Given the description of an element on the screen output the (x, y) to click on. 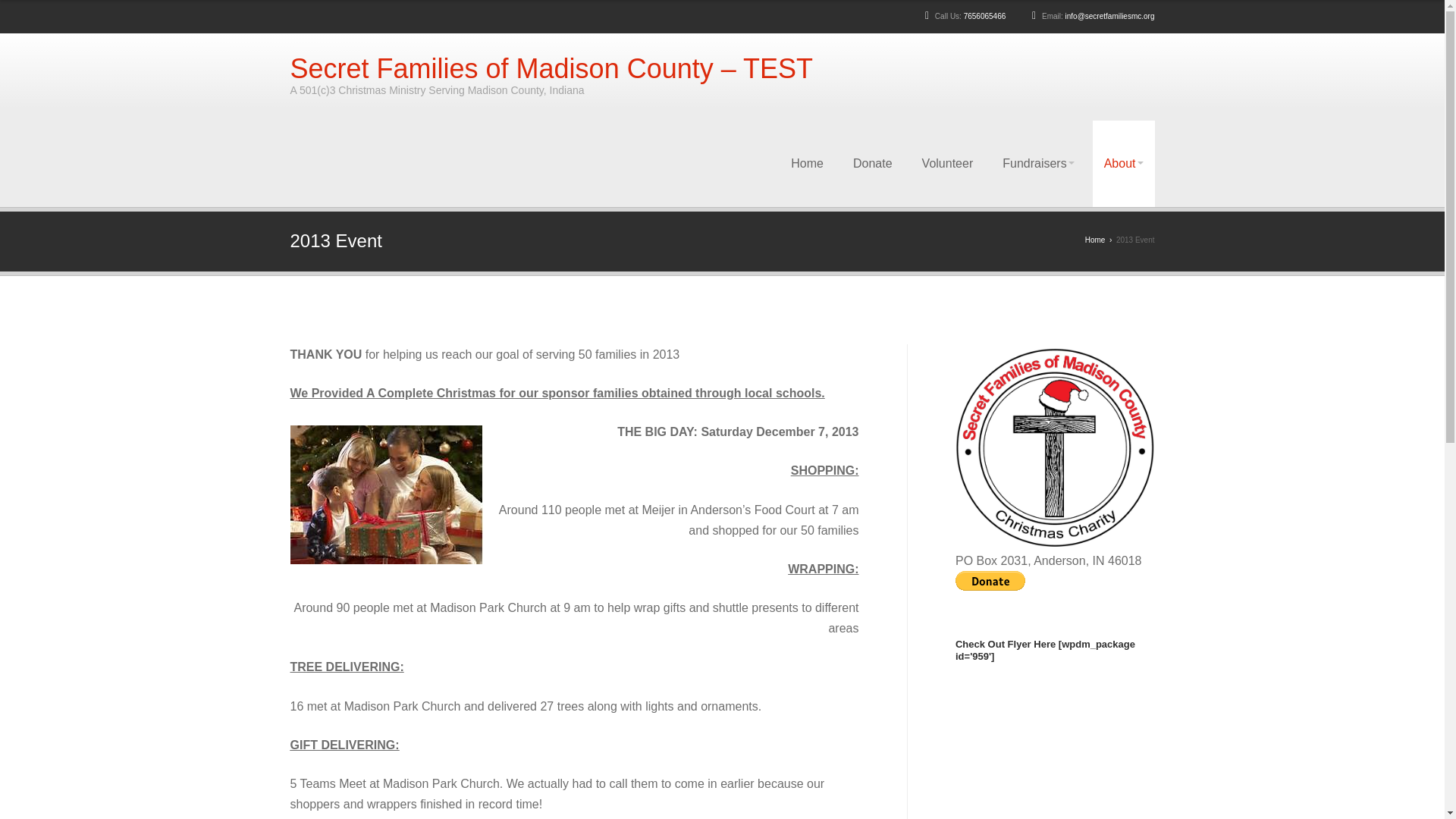
Fundraisers (1037, 163)
7656065466 (984, 16)
Home (1094, 239)
